Given the description of an element on the screen output the (x, y) to click on. 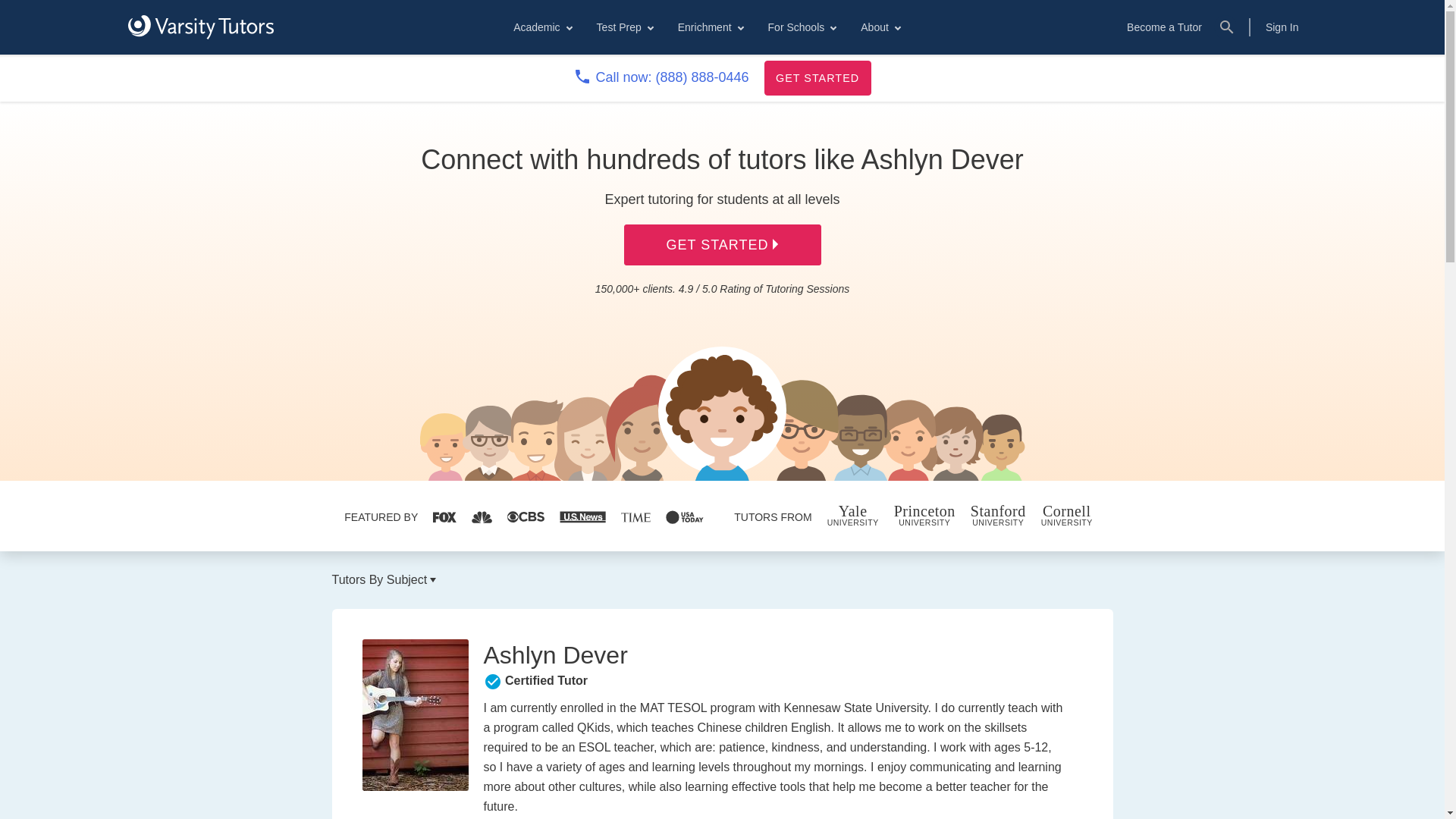
Varsity Tutors (200, 26)
Varsity Tutors (200, 27)
GET STARTED (817, 77)
Academic (541, 27)
